Given the description of an element on the screen output the (x, y) to click on. 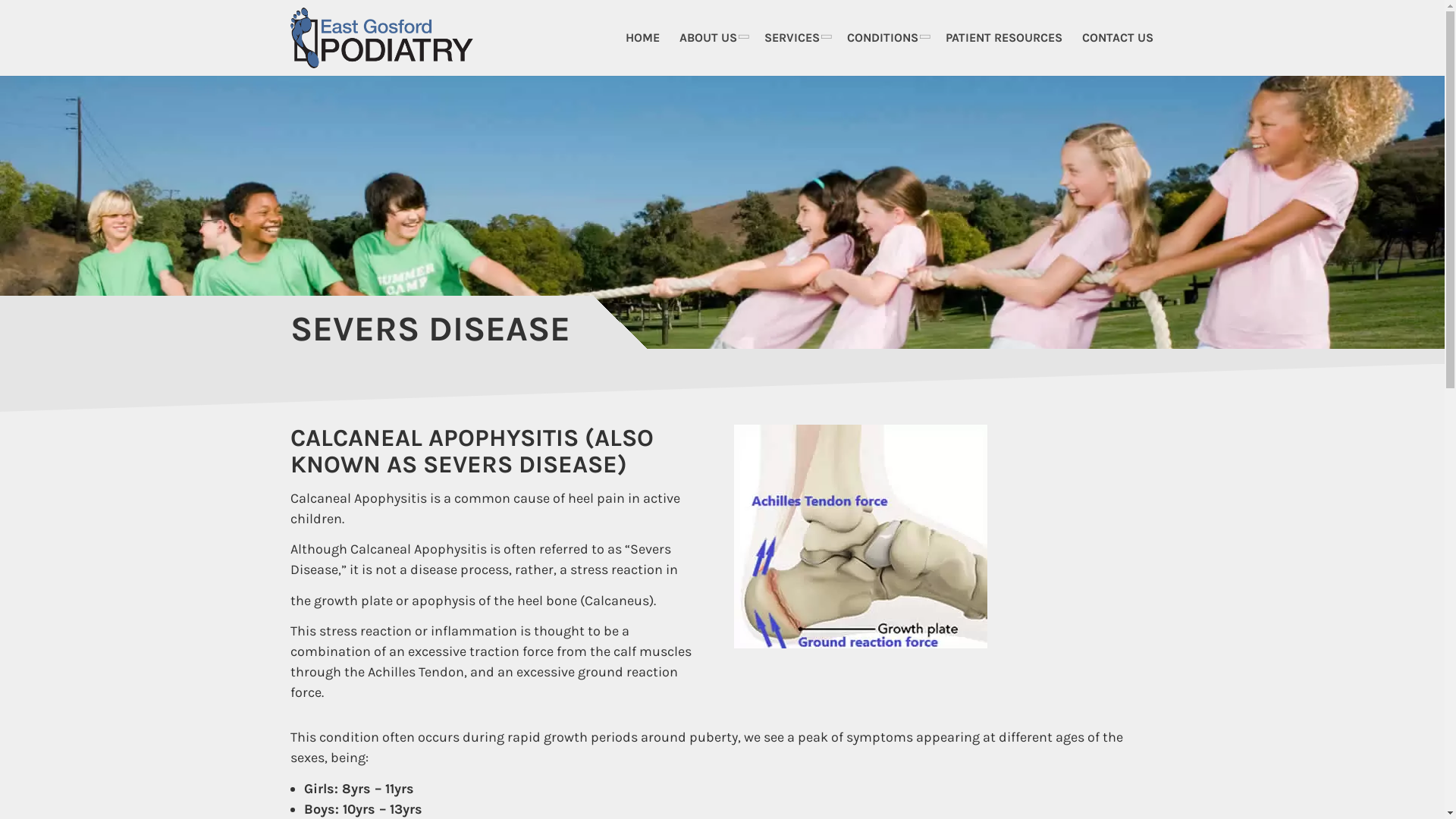
CONTACT US Element type: text (1117, 37)
SERVICES Element type: text (794, 37)
PATIENT RESOURCES Element type: text (1003, 37)
ABOUT US Element type: text (710, 37)
HOME Element type: text (642, 37)
severs image Element type: hover (860, 536)
CONDITIONS Element type: text (886, 37)
